Given the description of an element on the screen output the (x, y) to click on. 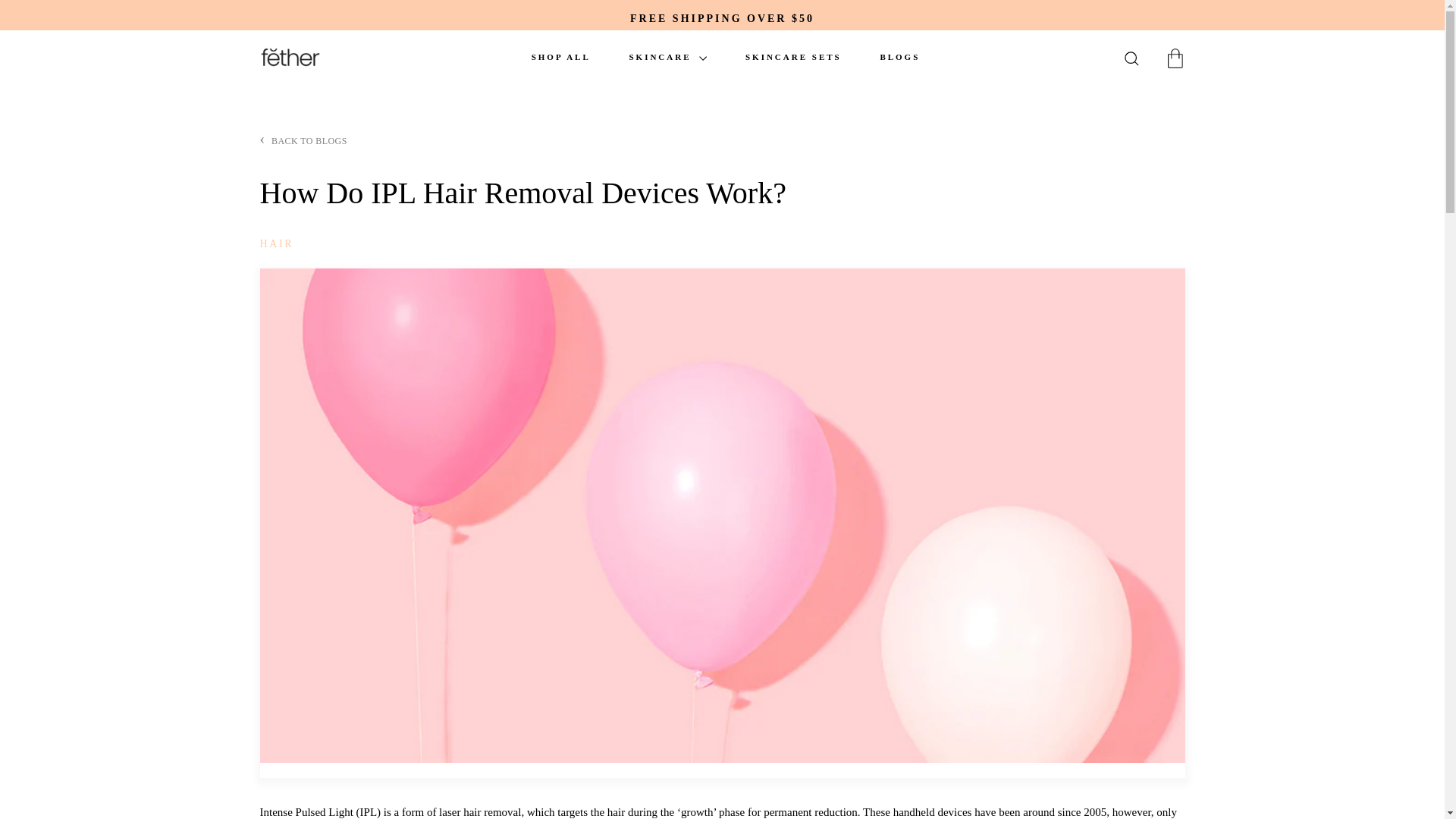
SEARCH (1131, 59)
SKINCARE SETS (793, 57)
SKINCARE (667, 57)
BLOGS (899, 57)
SHOP ALL (560, 57)
CART (1174, 56)
